Given the description of an element on the screen output the (x, y) to click on. 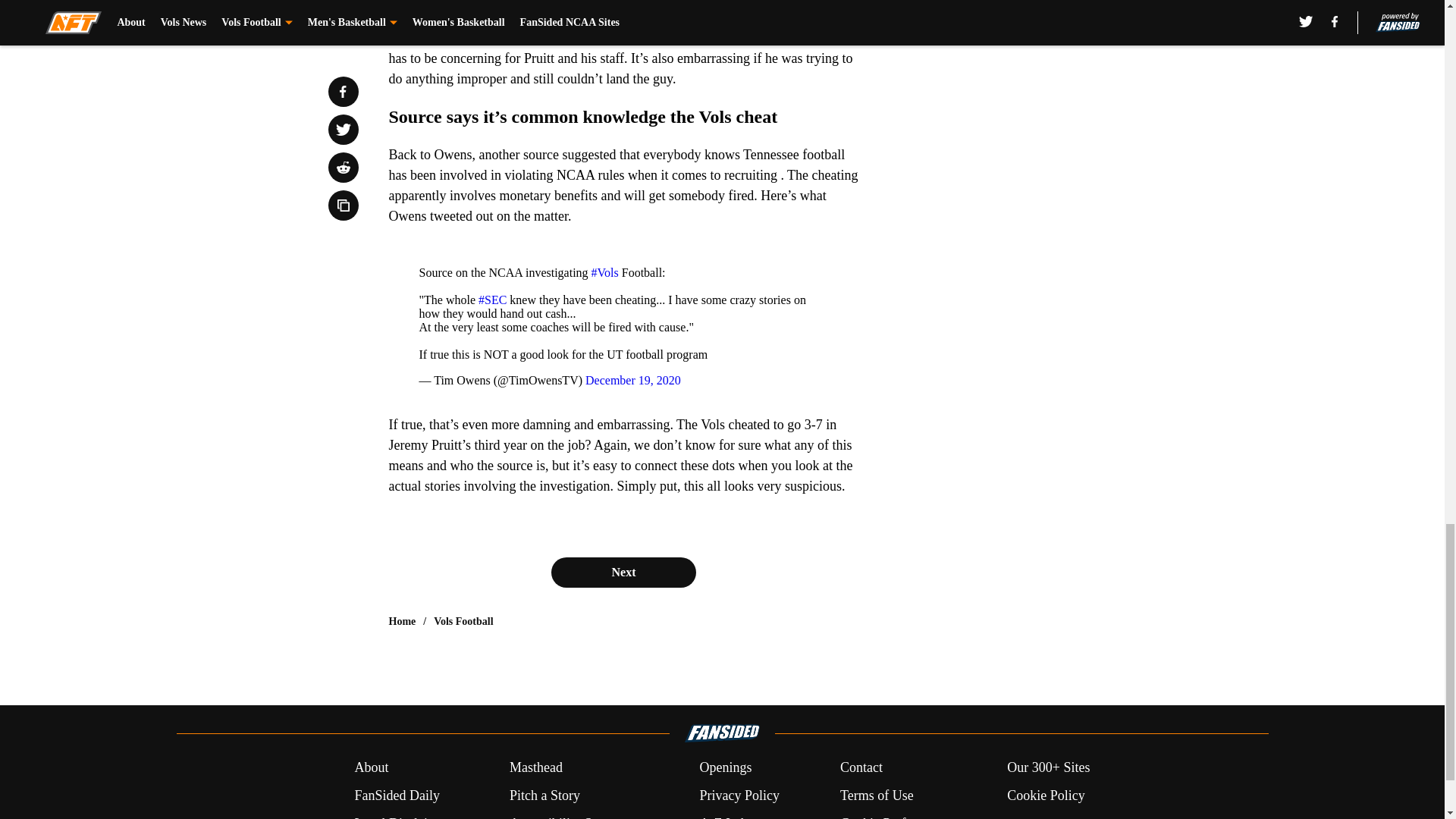
Masthead (535, 767)
Terms of Use (877, 795)
FanSided Daily (396, 795)
Next (622, 572)
Openings (724, 767)
Home (401, 621)
Contact (861, 767)
December 19, 2020 (633, 379)
Privacy Policy (738, 795)
Pitch a Story (544, 795)
Vols Football (463, 621)
About (370, 767)
